Given the description of an element on the screen output the (x, y) to click on. 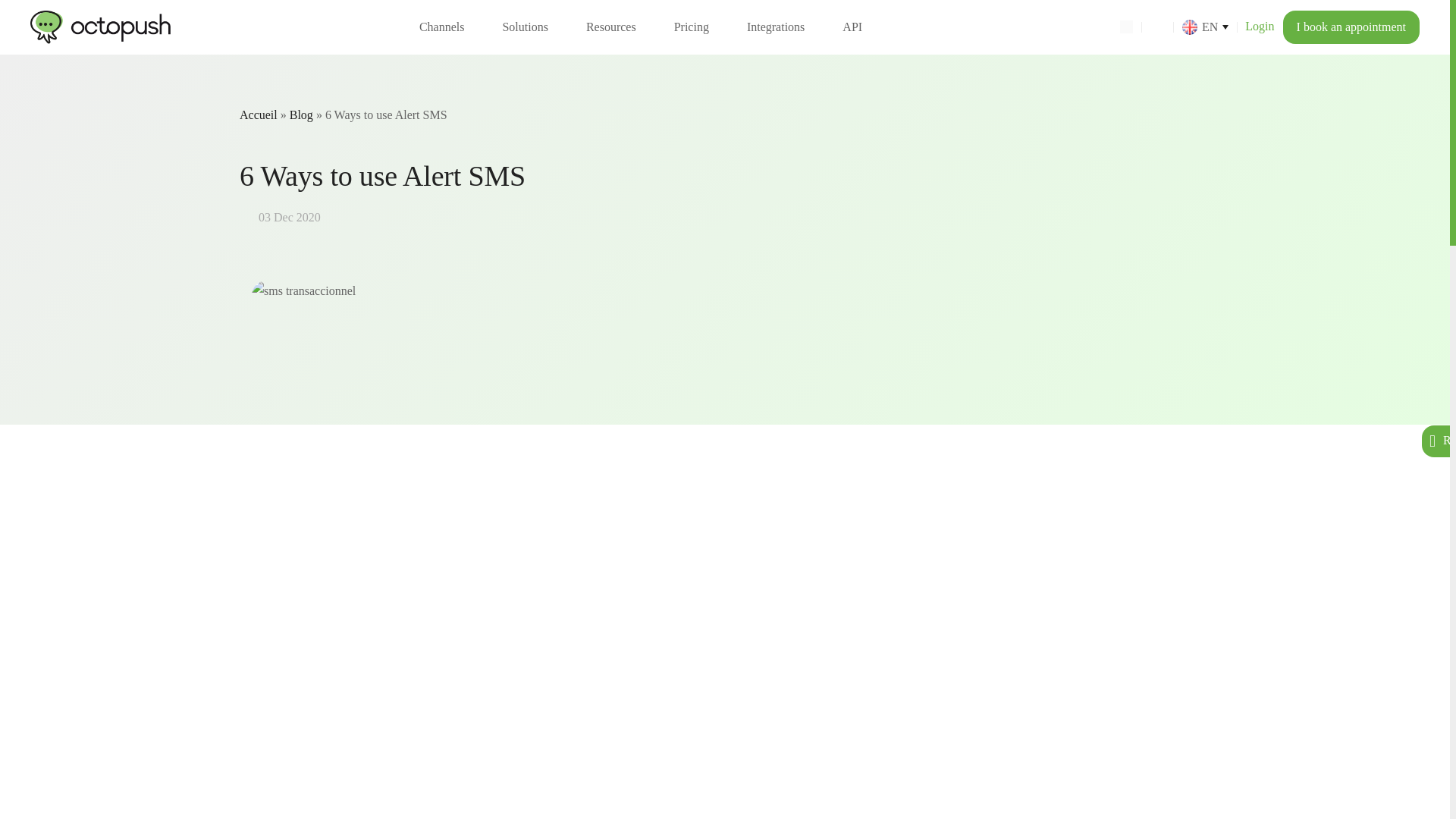
Integrations (775, 27)
rechercher (1125, 25)
Resources (611, 27)
